Given the description of an element on the screen output the (x, y) to click on. 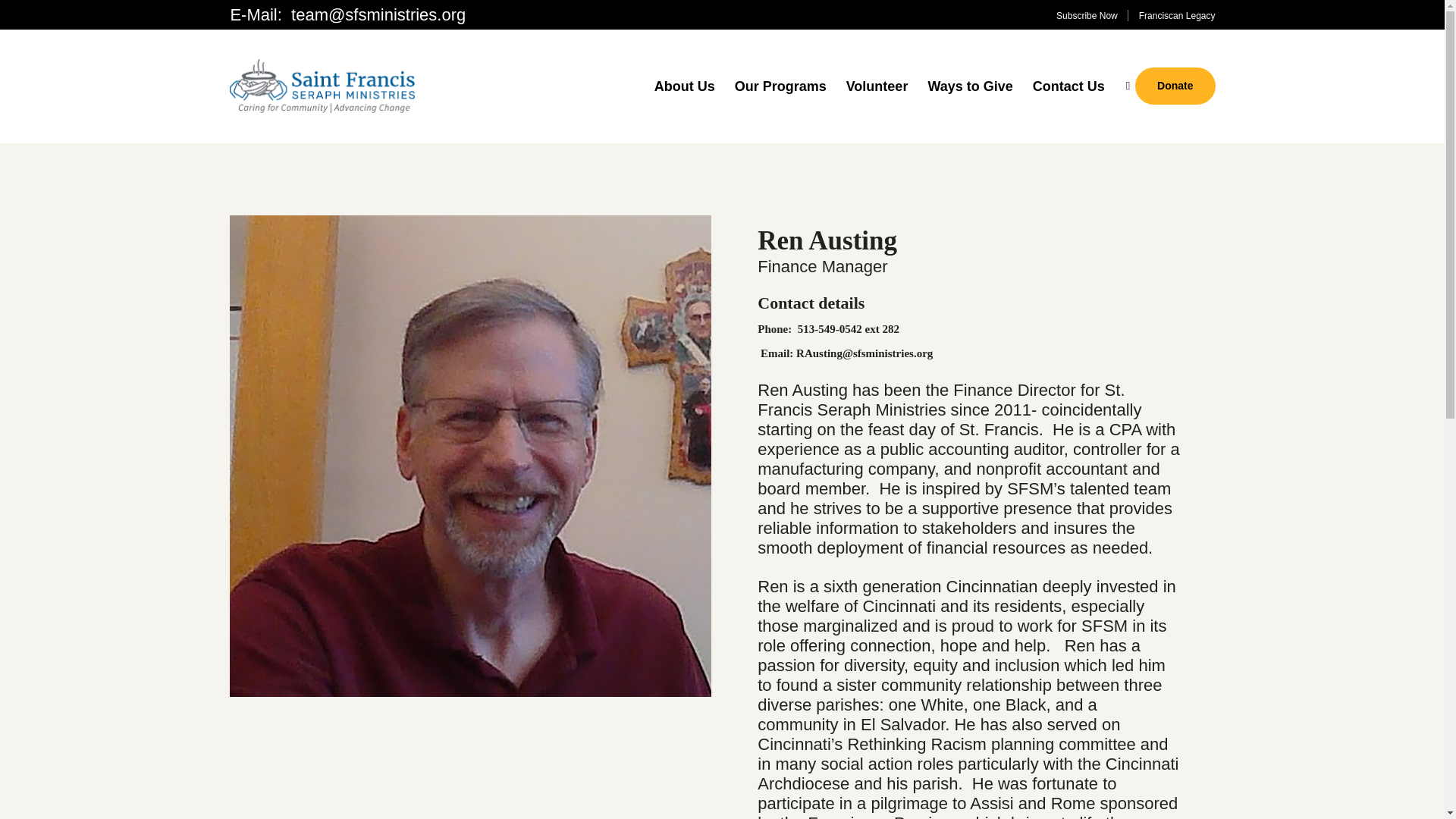
Ways to Give (969, 85)
Franciscan Legacy (1176, 15)
Subscribe Now (1087, 15)
Our Programs (780, 85)
Donate (1174, 86)
